Given the description of an element on the screen output the (x, y) to click on. 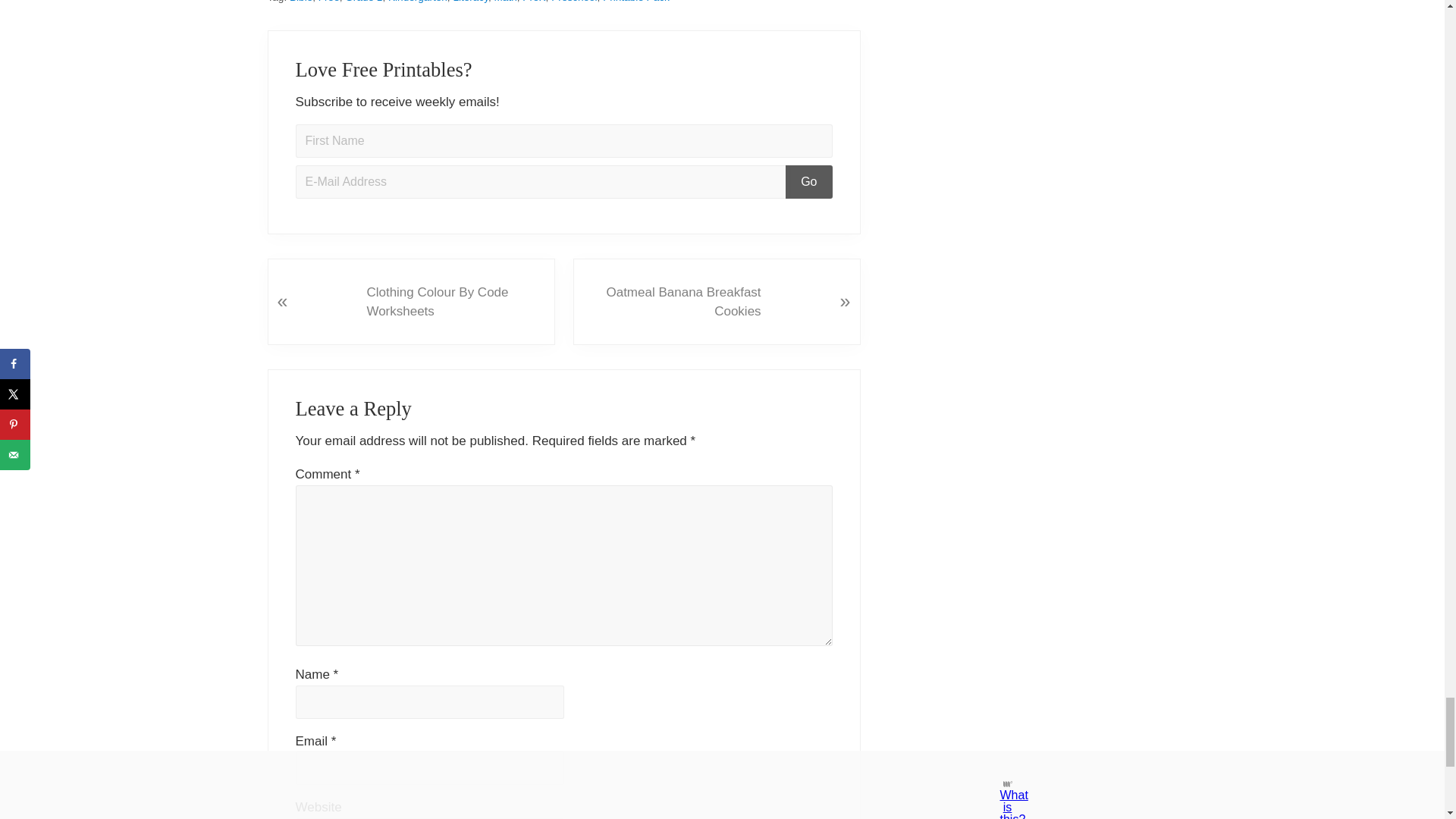
Go (808, 182)
